Given the description of an element on the screen output the (x, y) to click on. 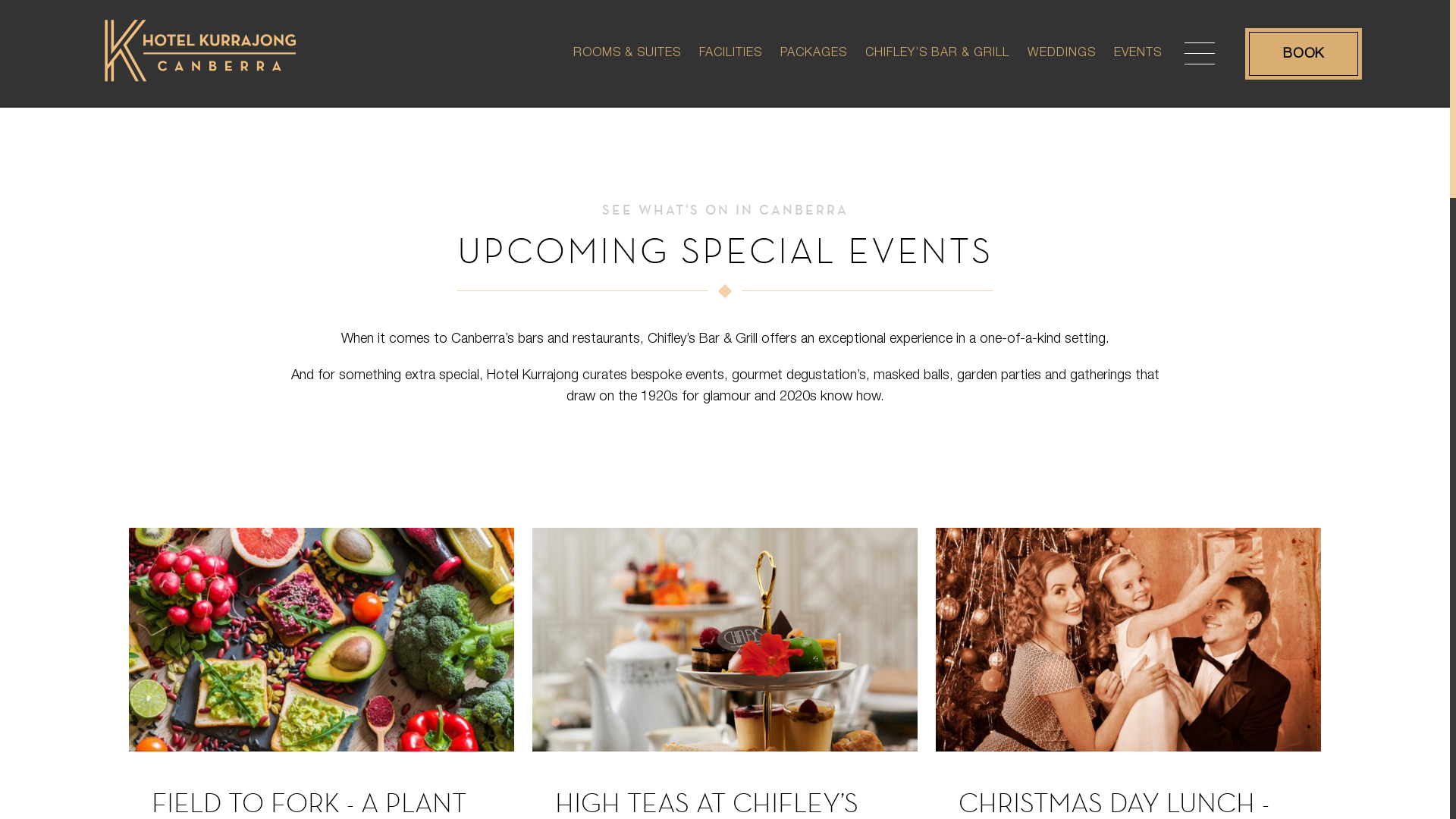
Hotel Kurrajong Canberra Element type: hover (201, 90)
WEDDINGS Element type: text (1061, 42)
Christmas Day Lunch - SOLD OUT Element type: hover (1128, 639)
Field to Fork - A Plant Based High Tea Element type: hover (321, 639)
BOOK Element type: text (1303, 53)
FACILITIES Element type: text (730, 42)
PACKAGES Element type: text (813, 42)
ROOMS & SUITES Element type: text (626, 42)
EVENTS Element type: text (1137, 42)
